Given the description of an element on the screen output the (x, y) to click on. 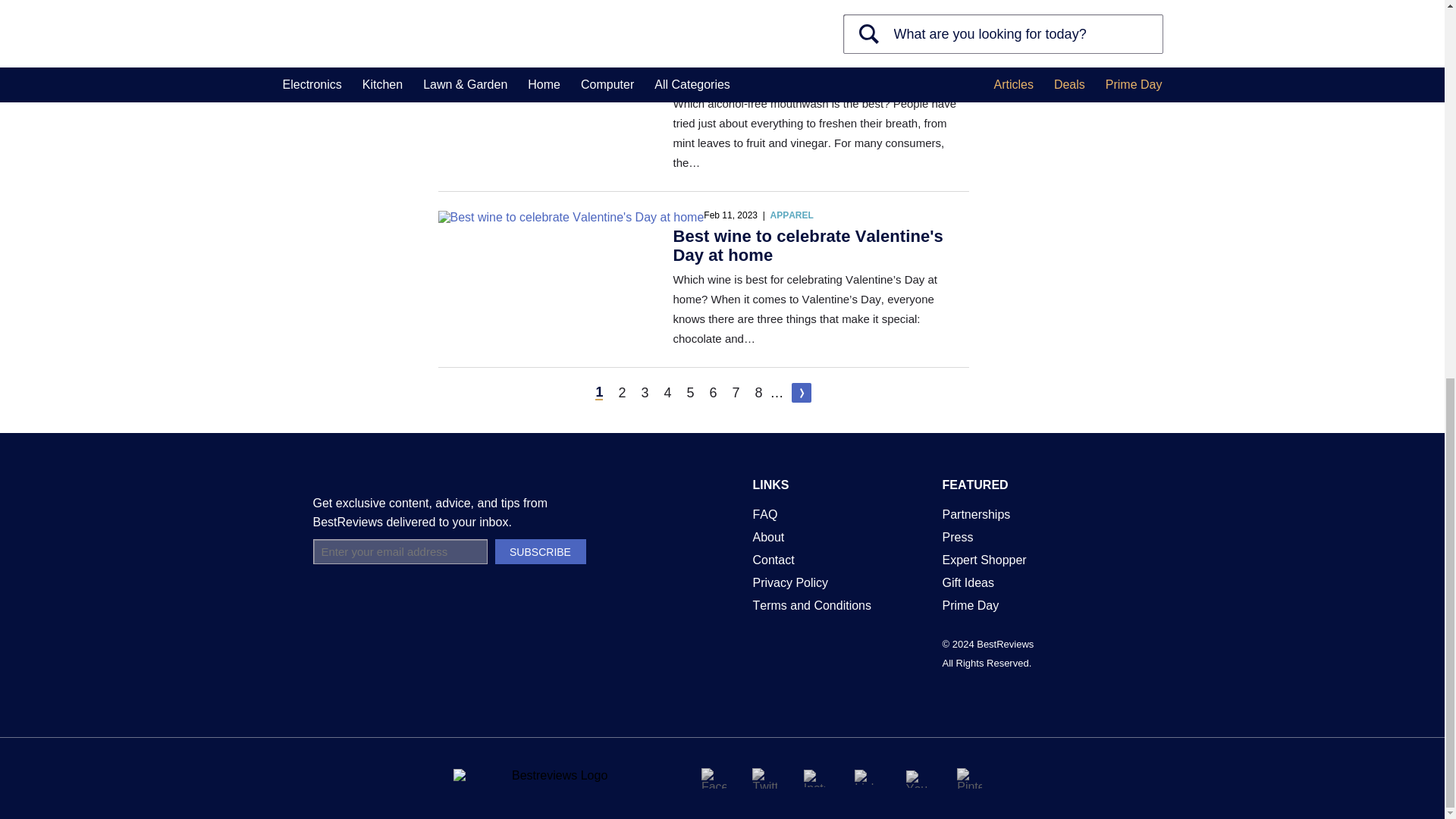
APPAREL (791, 214)
Subscribe email (399, 551)
Next (801, 392)
Frequently asked questions (764, 513)
Best alcohol-free mouthwash (522, 60)
Contact Us (772, 559)
Best wine to celebrate Valentine's Day at home (571, 217)
Best alcohol-free mouthwash (789, 78)
Best wine to celebrate Valentine's Day at home (807, 245)
